Given the description of an element on the screen output the (x, y) to click on. 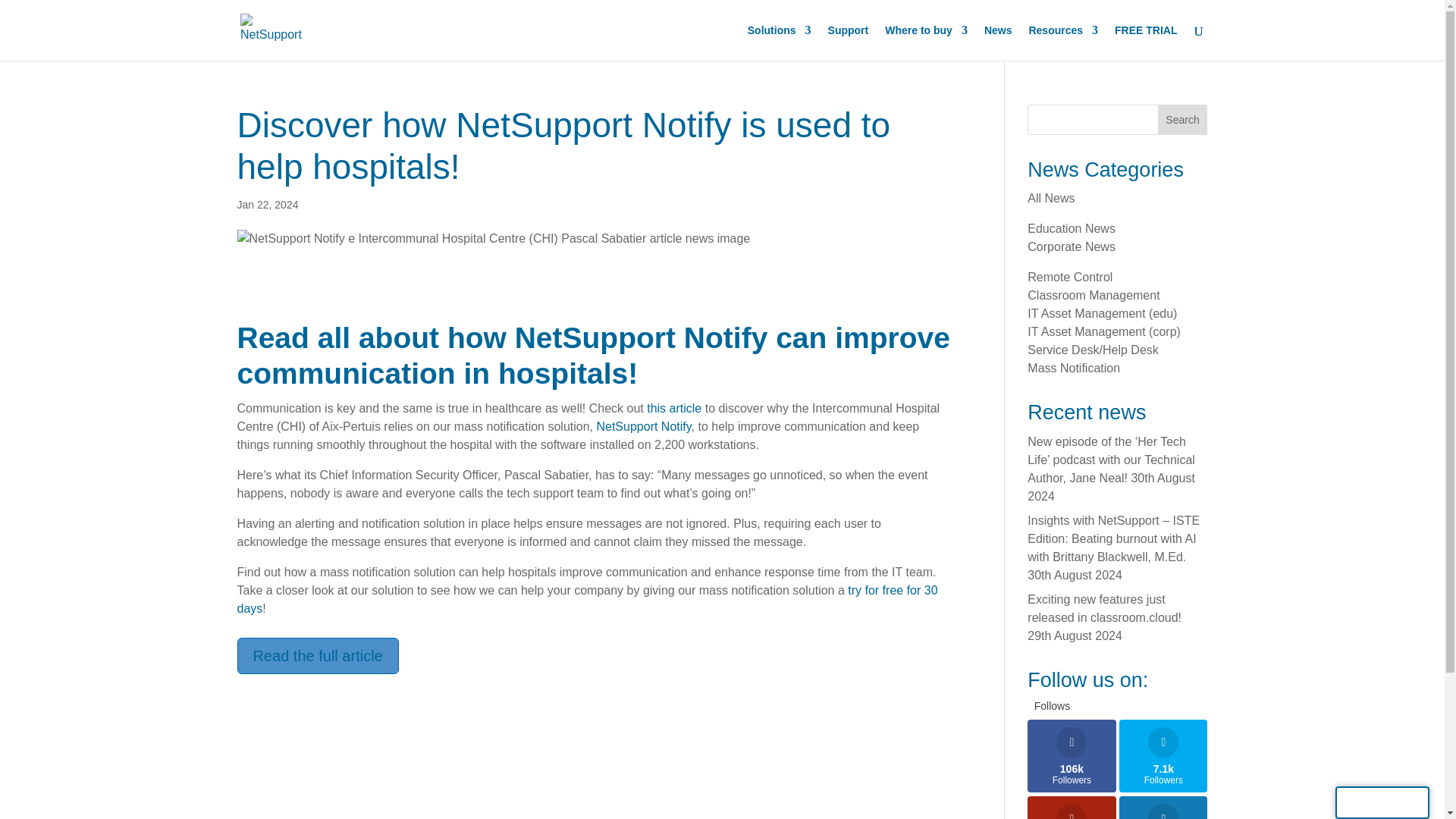
Corporate News (1071, 246)
Search (1071, 755)
All News (1182, 119)
Classroom Management (1050, 197)
Resources (1092, 295)
Where to buy (1062, 42)
Remote Control (926, 42)
this article (1069, 277)
Mass Notification (673, 408)
